Given the description of an element on the screen output the (x, y) to click on. 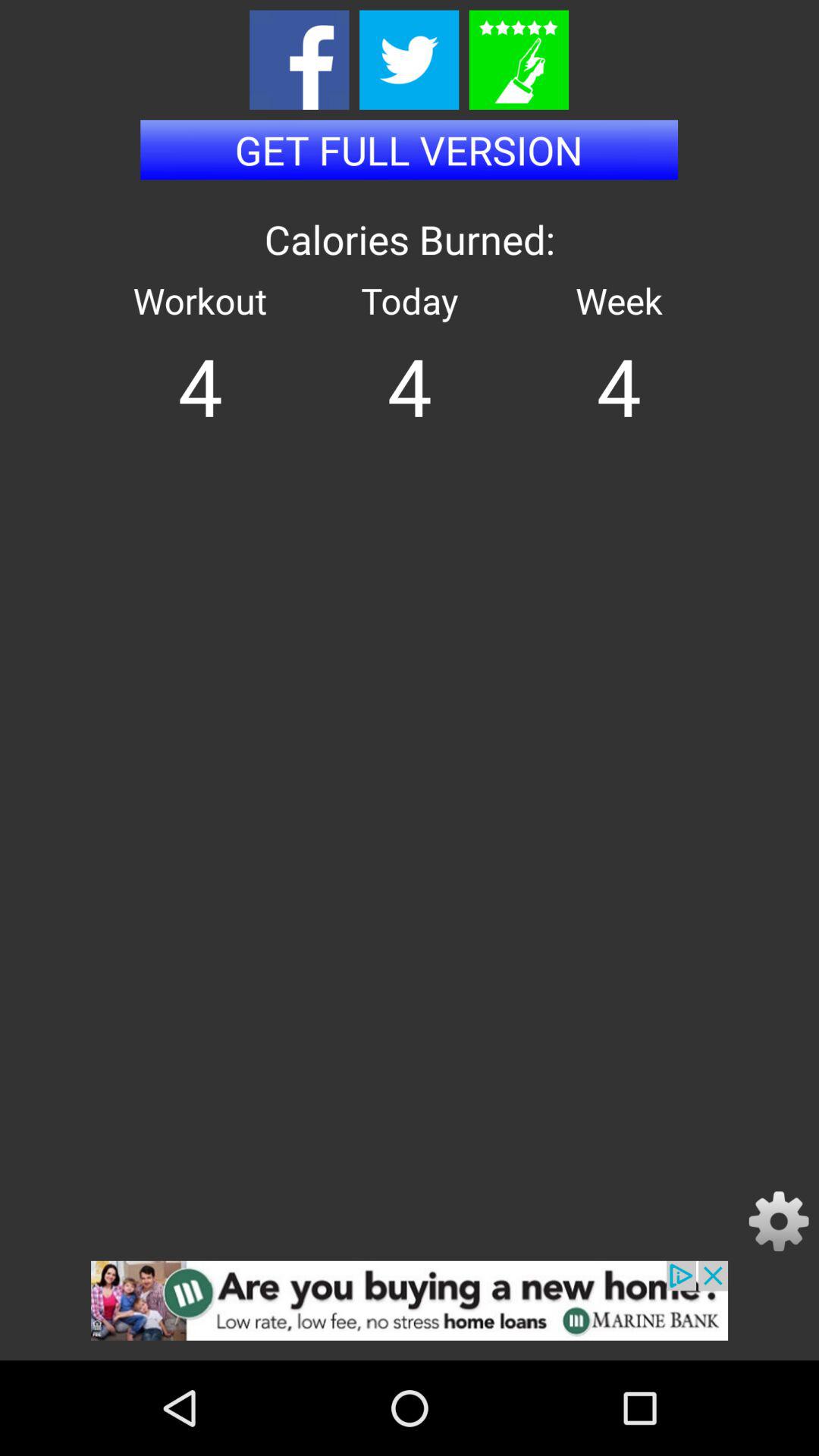
share the results on twitter (408, 59)
